Given the description of an element on the screen output the (x, y) to click on. 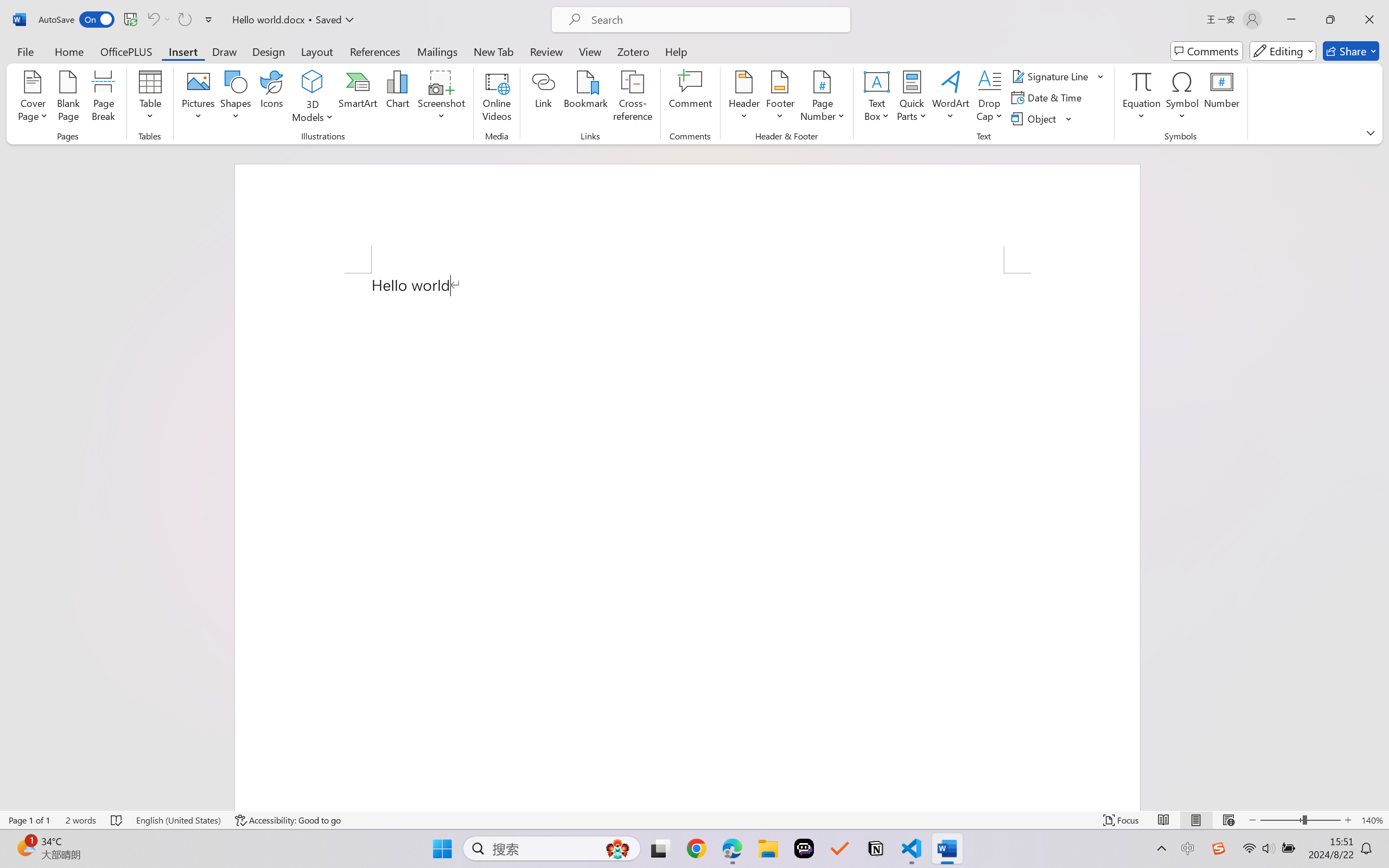
Link (543, 97)
Web Layout (1228, 819)
Microsoft search (715, 19)
Shapes (235, 97)
Quick Parts (912, 97)
AutoSave (76, 19)
Equation (1141, 97)
Read Mode (1163, 819)
Help (675, 51)
Symbol (1181, 97)
Page 1 content (687, 541)
Bookmark... (585, 97)
